Given the description of an element on the screen output the (x, y) to click on. 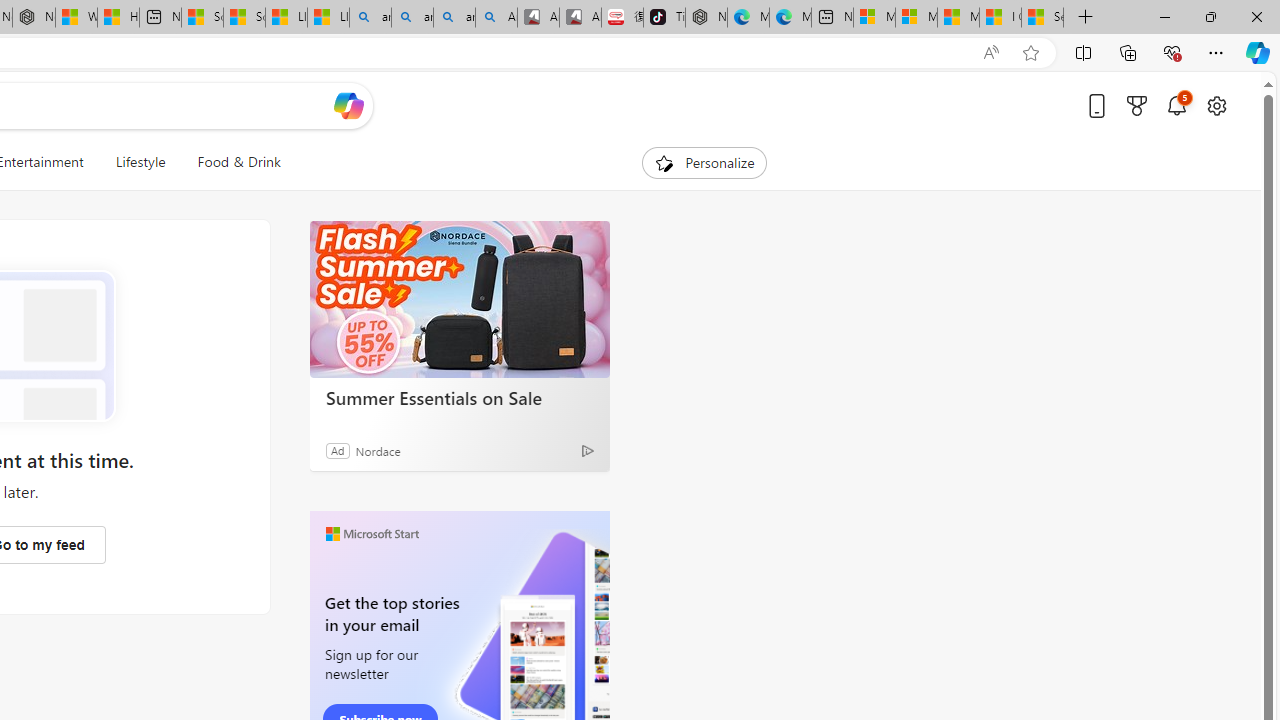
Personalize (703, 162)
Open settings (1216, 105)
I Gained 20 Pounds of Muscle in 30 Days! | Watch (1000, 17)
